Given the description of an element on the screen output the (x, y) to click on. 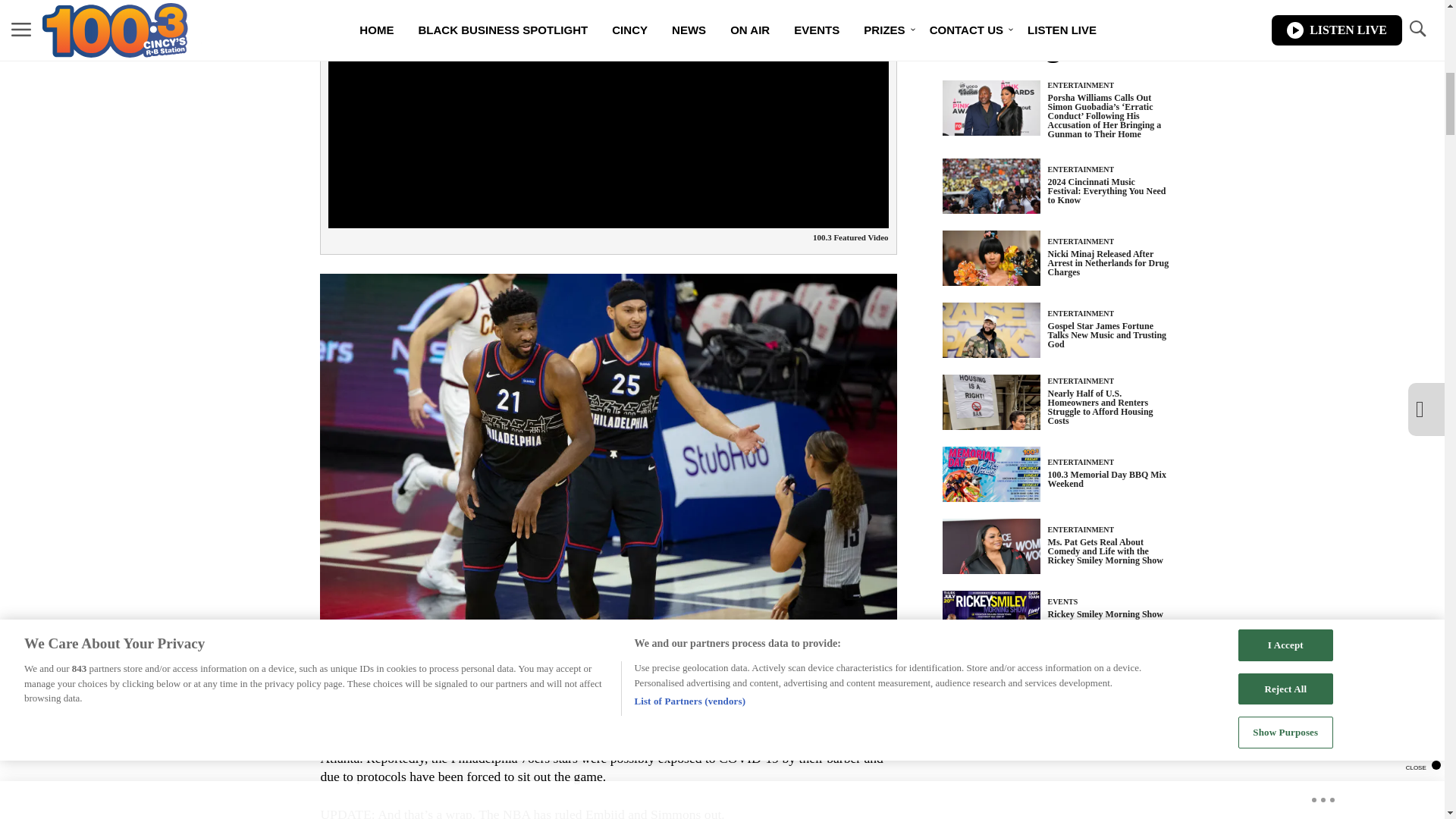
NBA All-Star game (796, 739)
ruled Embiid and Simmons out (637, 812)
ENTERTAINMENT (1081, 85)
ENTERTAINMENT (1081, 169)
Joel Embiid and Ben Simmons (402, 739)
